Given the description of an element on the screen output the (x, y) to click on. 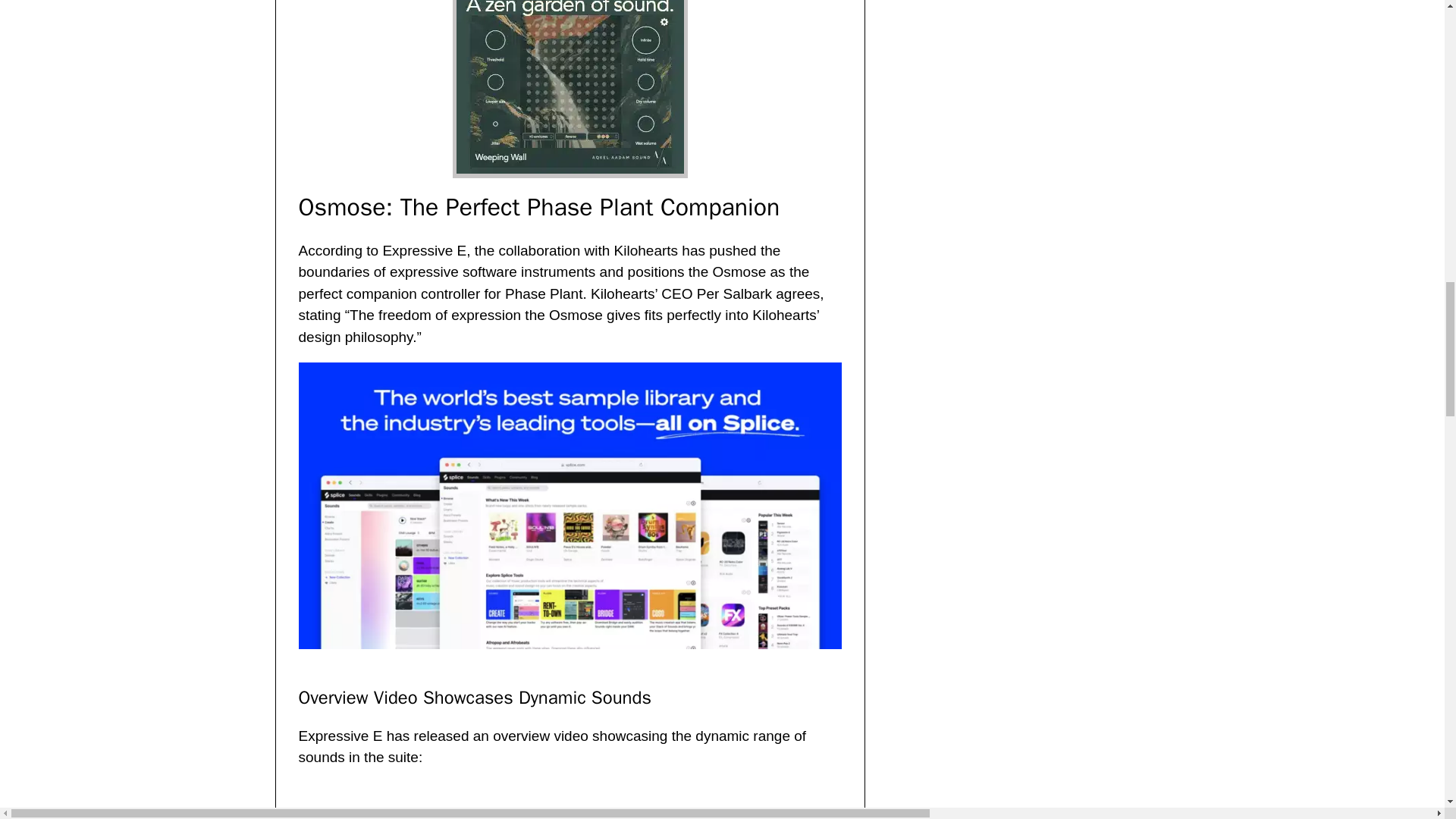
Phase Plant Expressive Suite - Overview (541, 800)
